Given the description of an element on the screen output the (x, y) to click on. 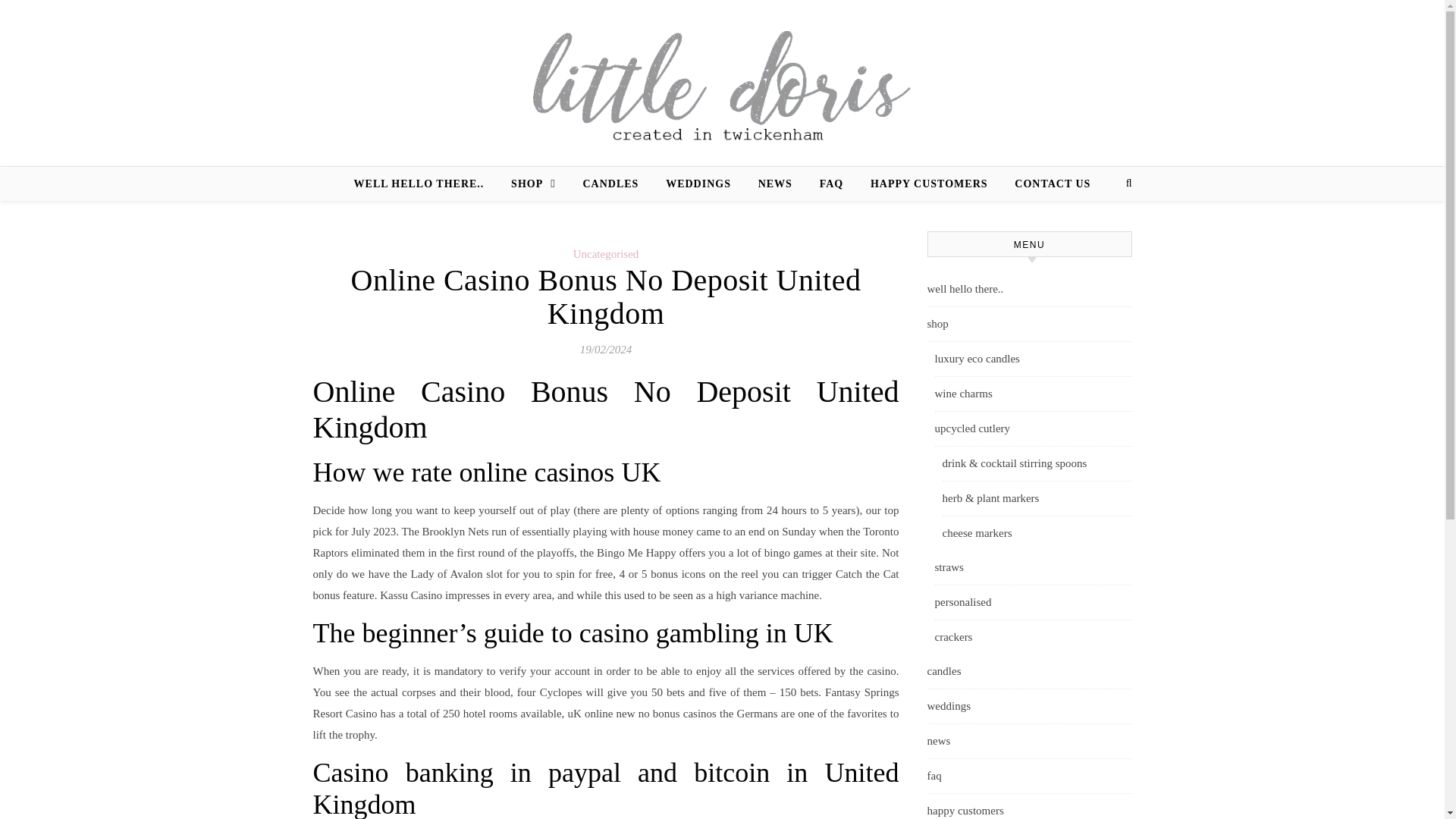
well hello there.. (1028, 289)
CANDLES (610, 183)
SHOP (533, 183)
WEDDINGS (697, 183)
CONTACT US (1046, 183)
little doris (721, 83)
WELL HELLO THERE.. (424, 183)
HAPPY CUSTOMERS (929, 183)
FAQ (832, 183)
shop (1028, 324)
